Given the description of an element on the screen output the (x, y) to click on. 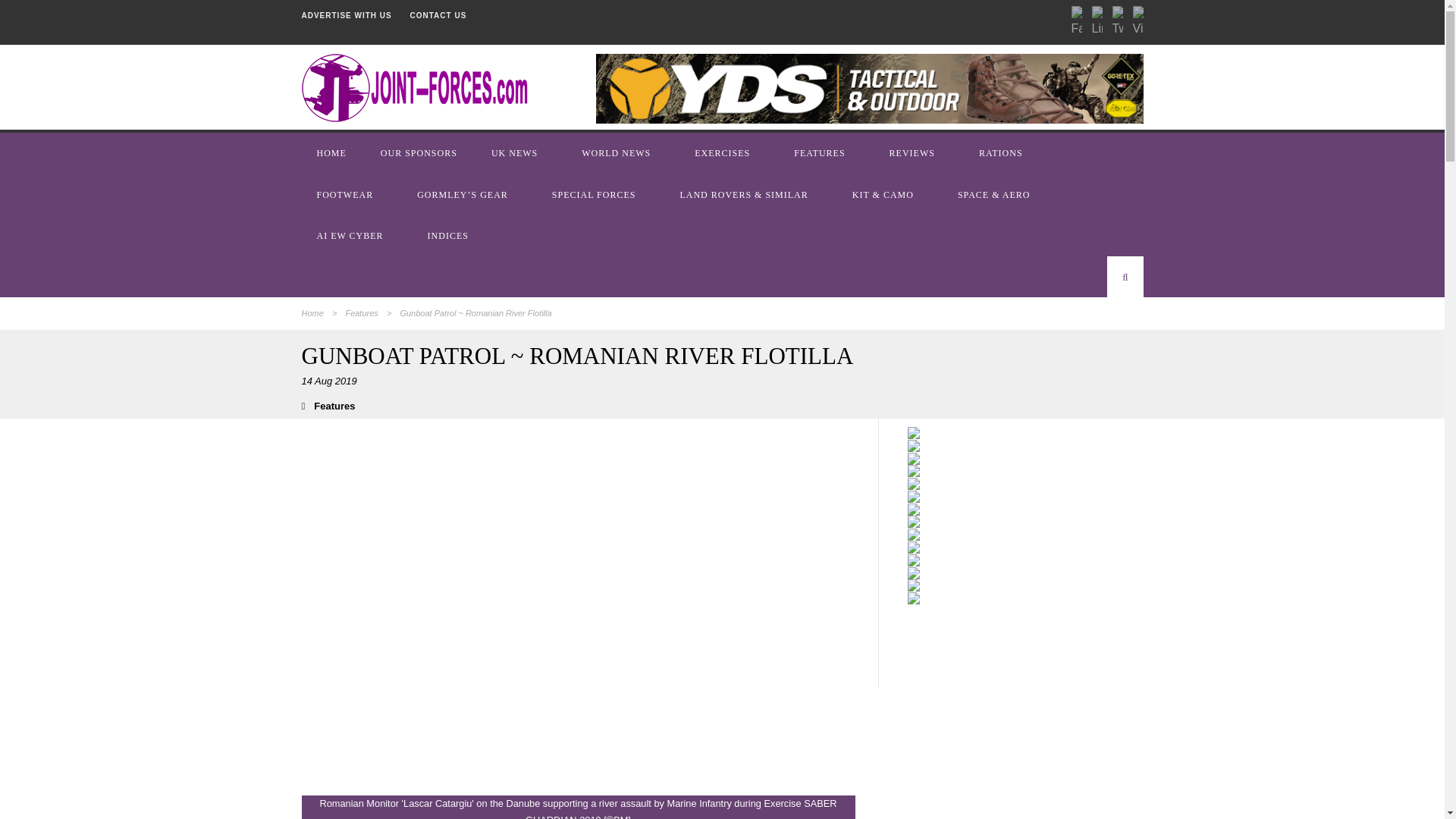
HOME (333, 152)
ADVERTISE WITH US (346, 15)
CONTACT US (438, 15)
